Given the description of an element on the screen output the (x, y) to click on. 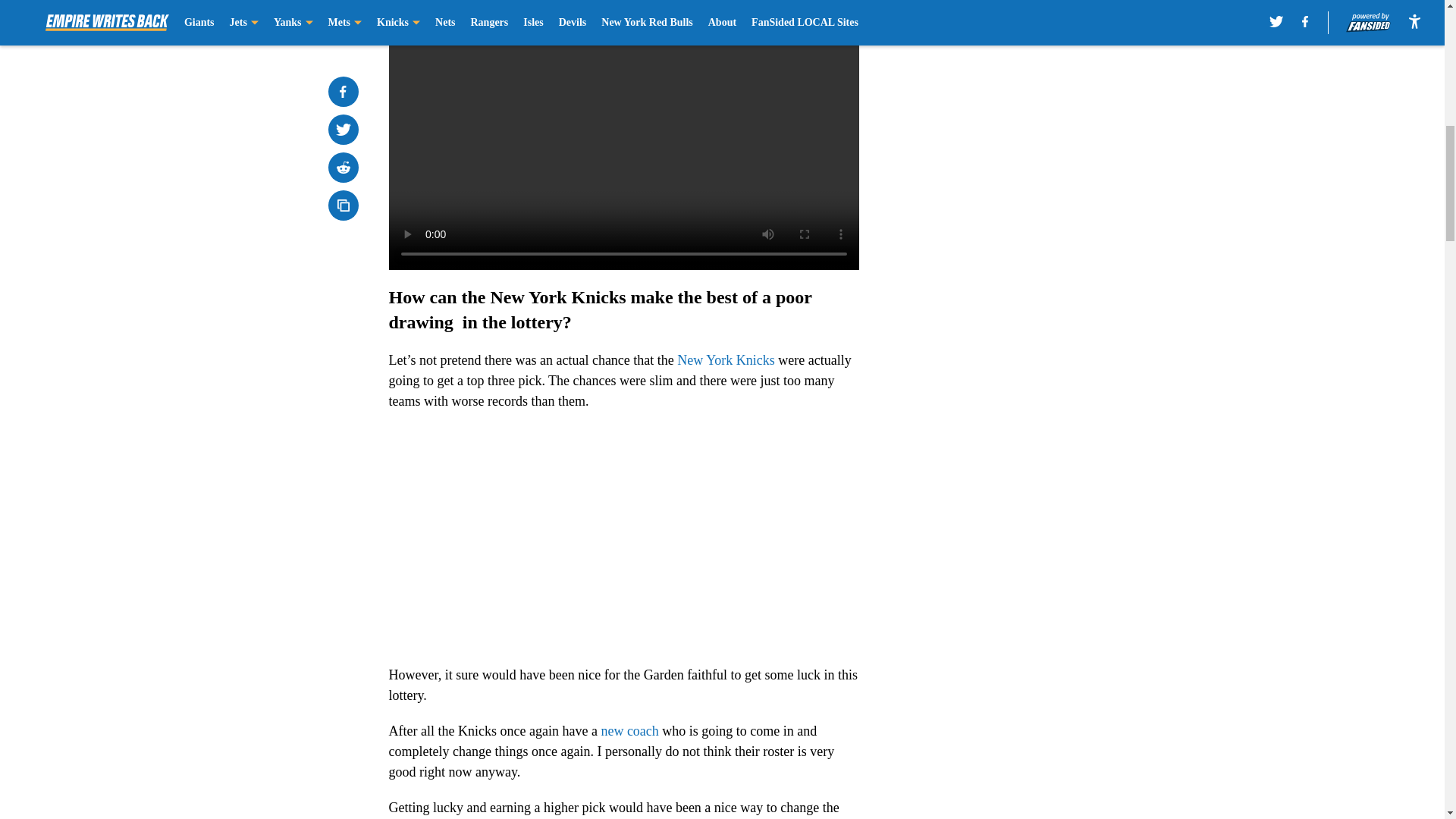
New York Knicks (725, 359)
3rd party ad content (1047, 100)
3rd party ad content (1047, 320)
new coach (628, 730)
